Given the description of an element on the screen output the (x, y) to click on. 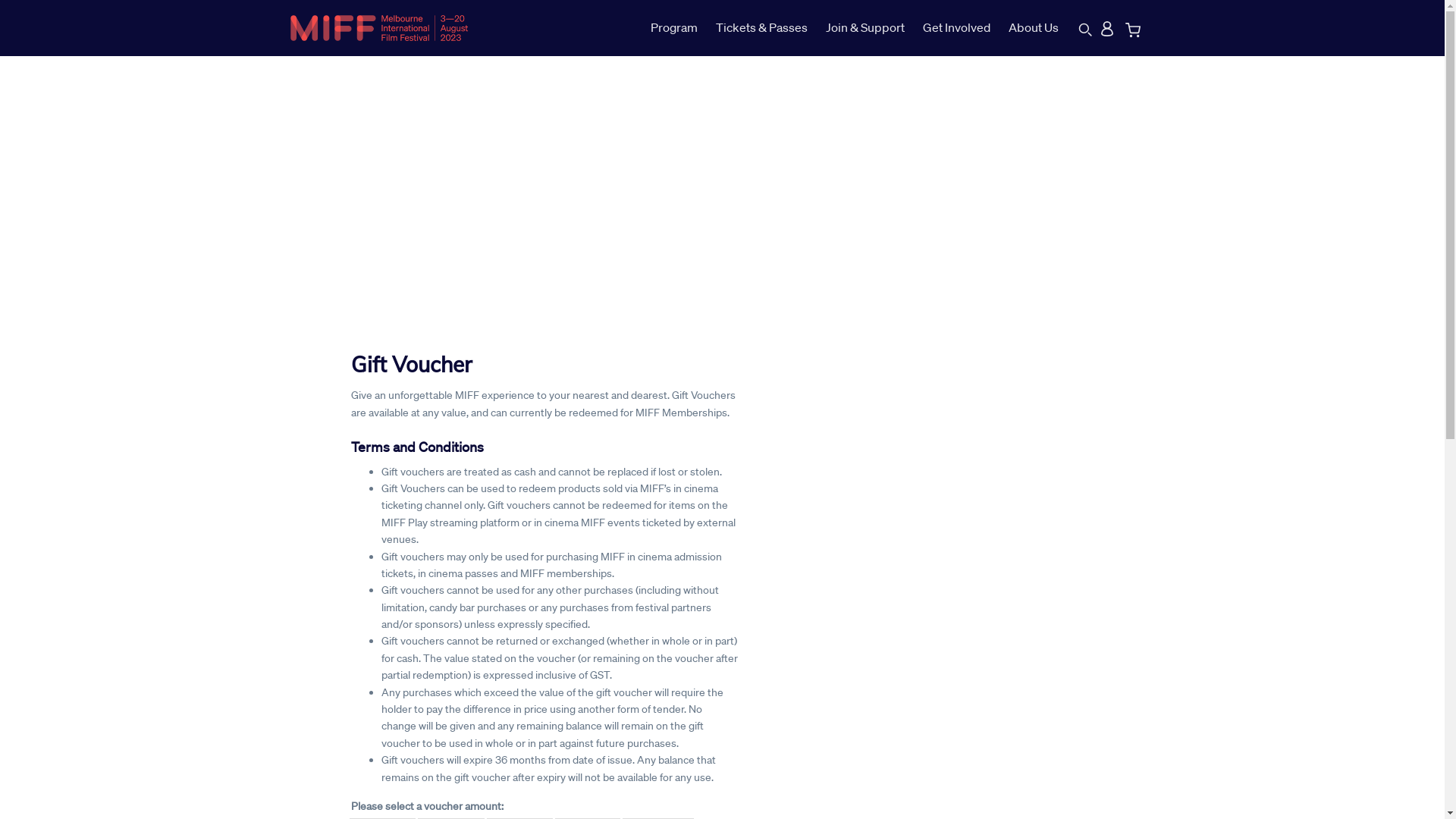
Program Element type: text (678, 28)
Join & Support Element type: text (864, 28)
About Us Element type: text (1033, 28)
Tickets & Passes Element type: text (761, 28)
Get Involved Element type: text (956, 28)
